Given the description of an element on the screen output the (x, y) to click on. 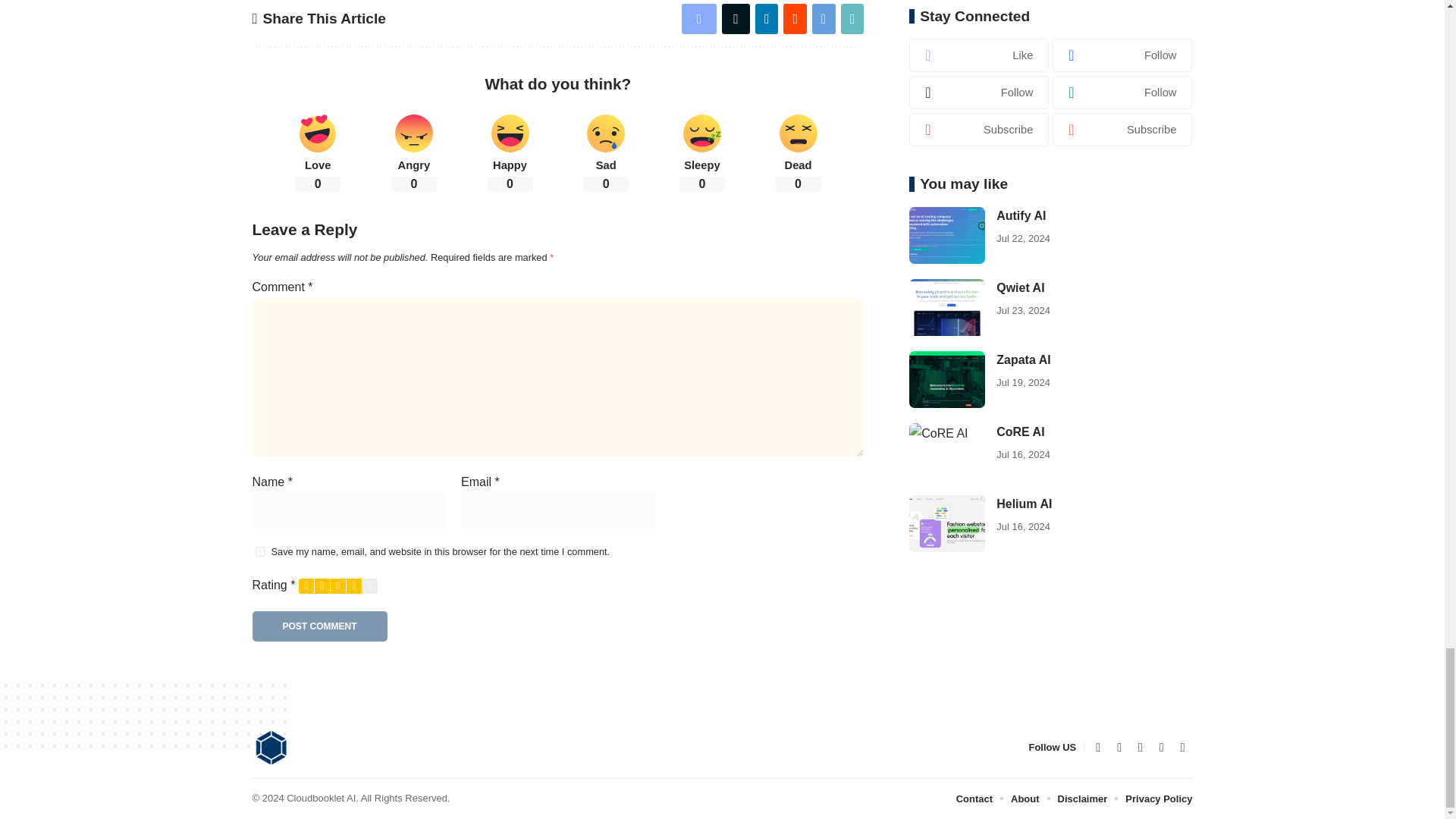
Post Comment (319, 625)
5 Stars (369, 585)
yes (259, 551)
1 Star (306, 585)
3 Stars (338, 585)
4 Stars (353, 585)
2 Stars (322, 585)
